Given the description of an element on the screen output the (x, y) to click on. 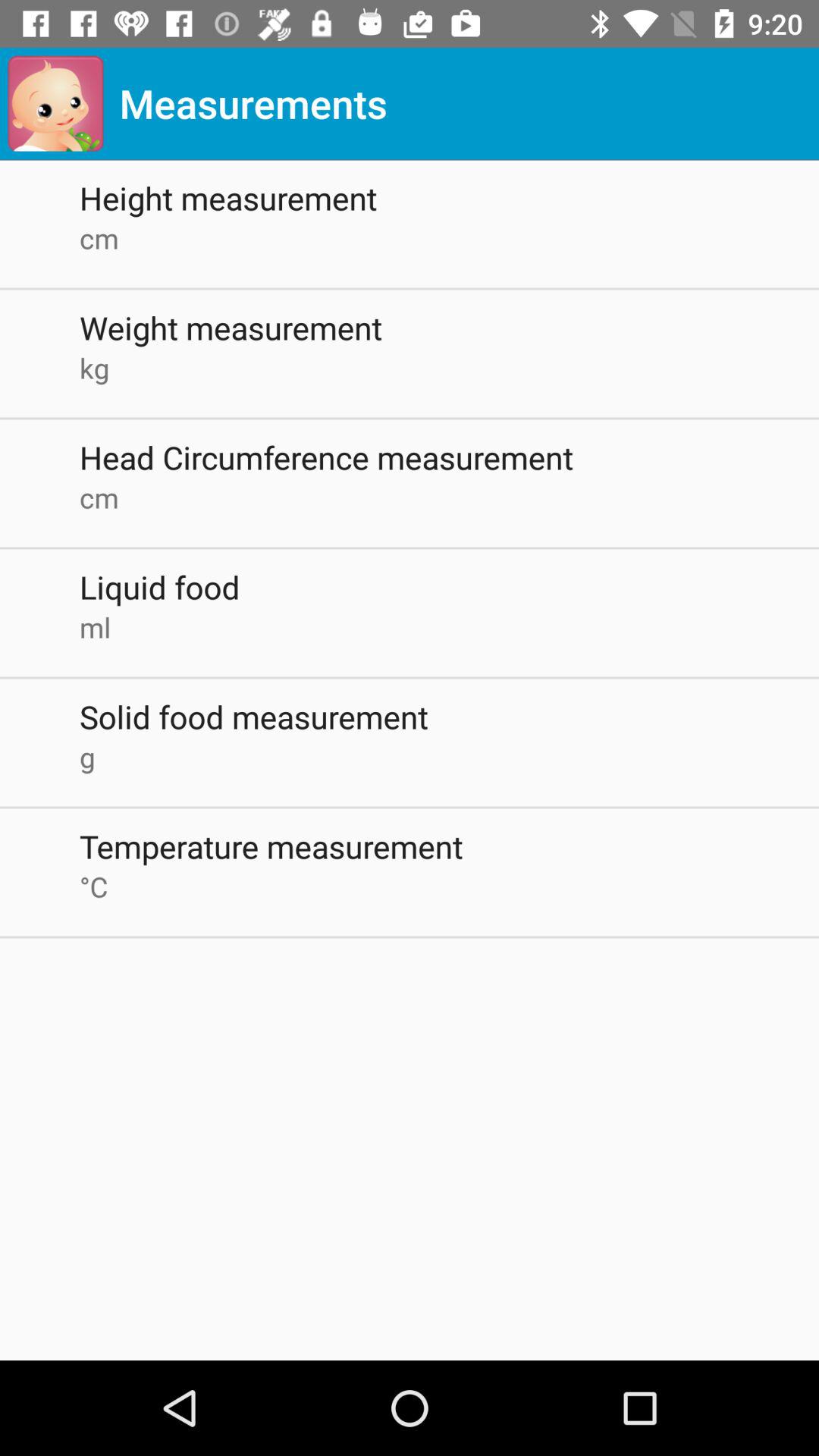
turn off the weight measurement app (449, 327)
